Given the description of an element on the screen output the (x, y) to click on. 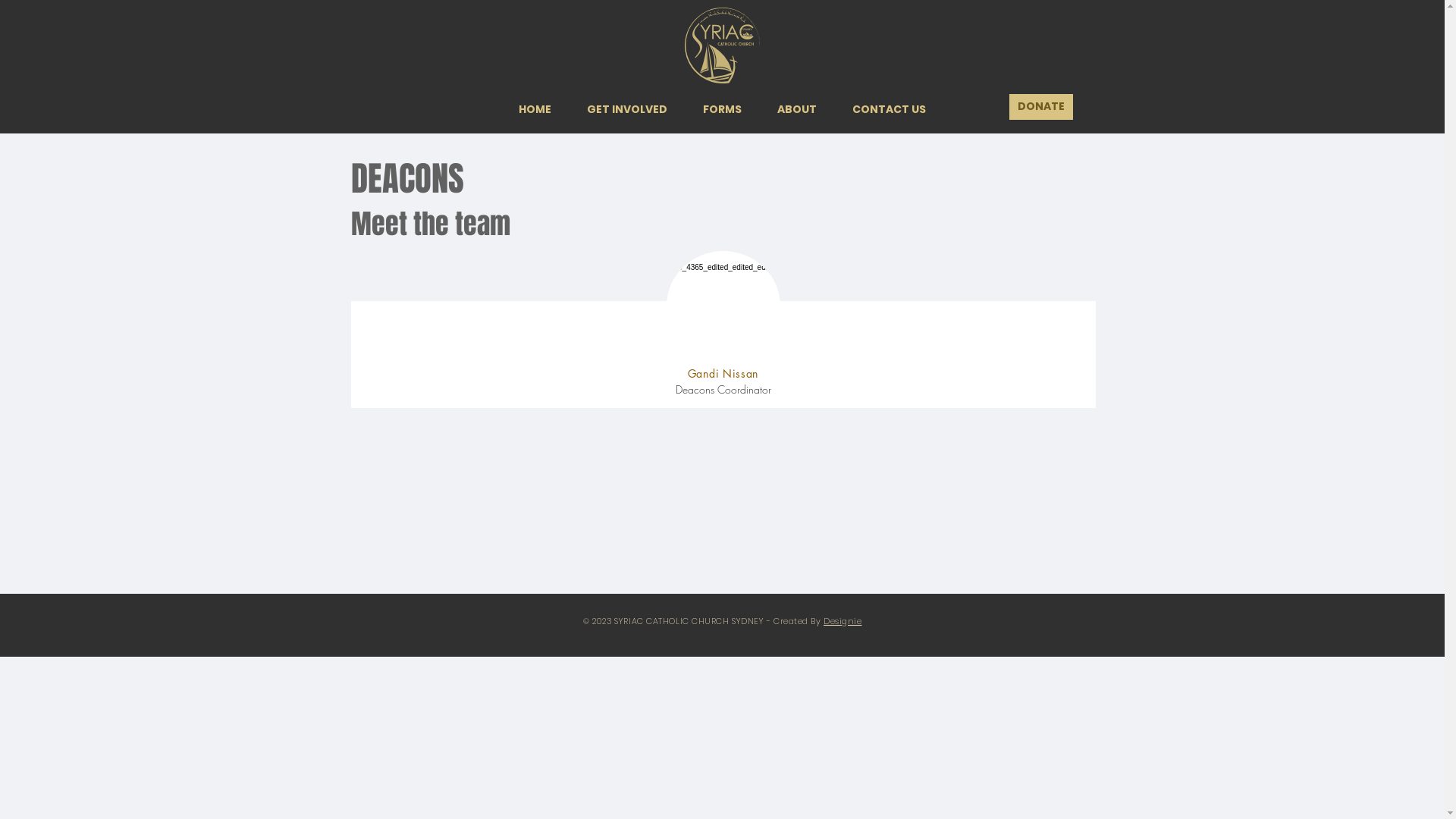
Designie Element type: text (842, 621)
HOME Element type: text (534, 108)
CONTACT US Element type: text (888, 108)
DONATE Element type: text (1040, 106)
